Given the description of an element on the screen output the (x, y) to click on. 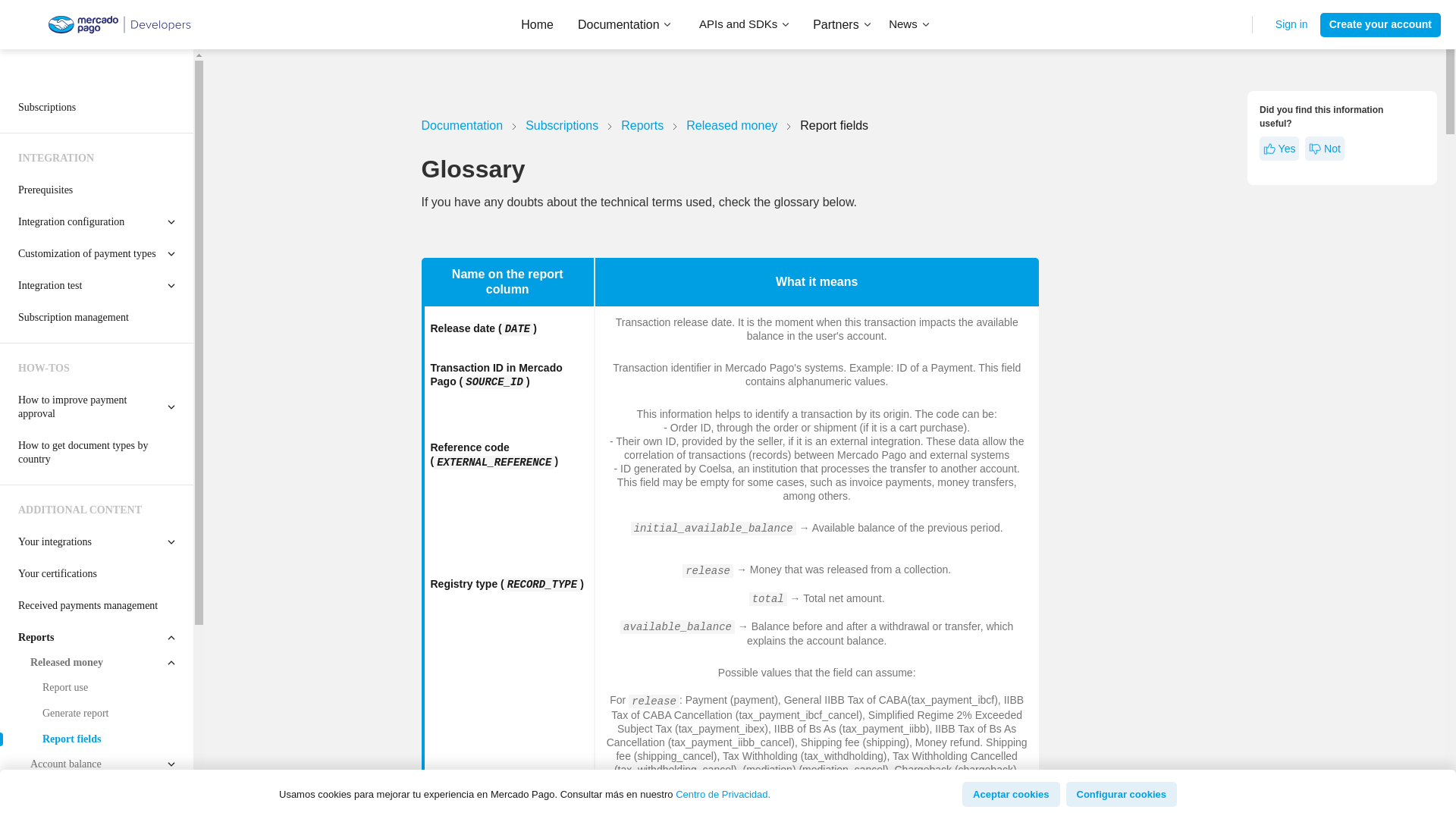
Subscriptions (96, 107)
Integration configuration (96, 222)
Sign in (1291, 24)
Create your account (1380, 24)
Home (537, 24)
Prerequisites (96, 190)
INTEGRATION (96, 158)
